Given the description of an element on the screen output the (x, y) to click on. 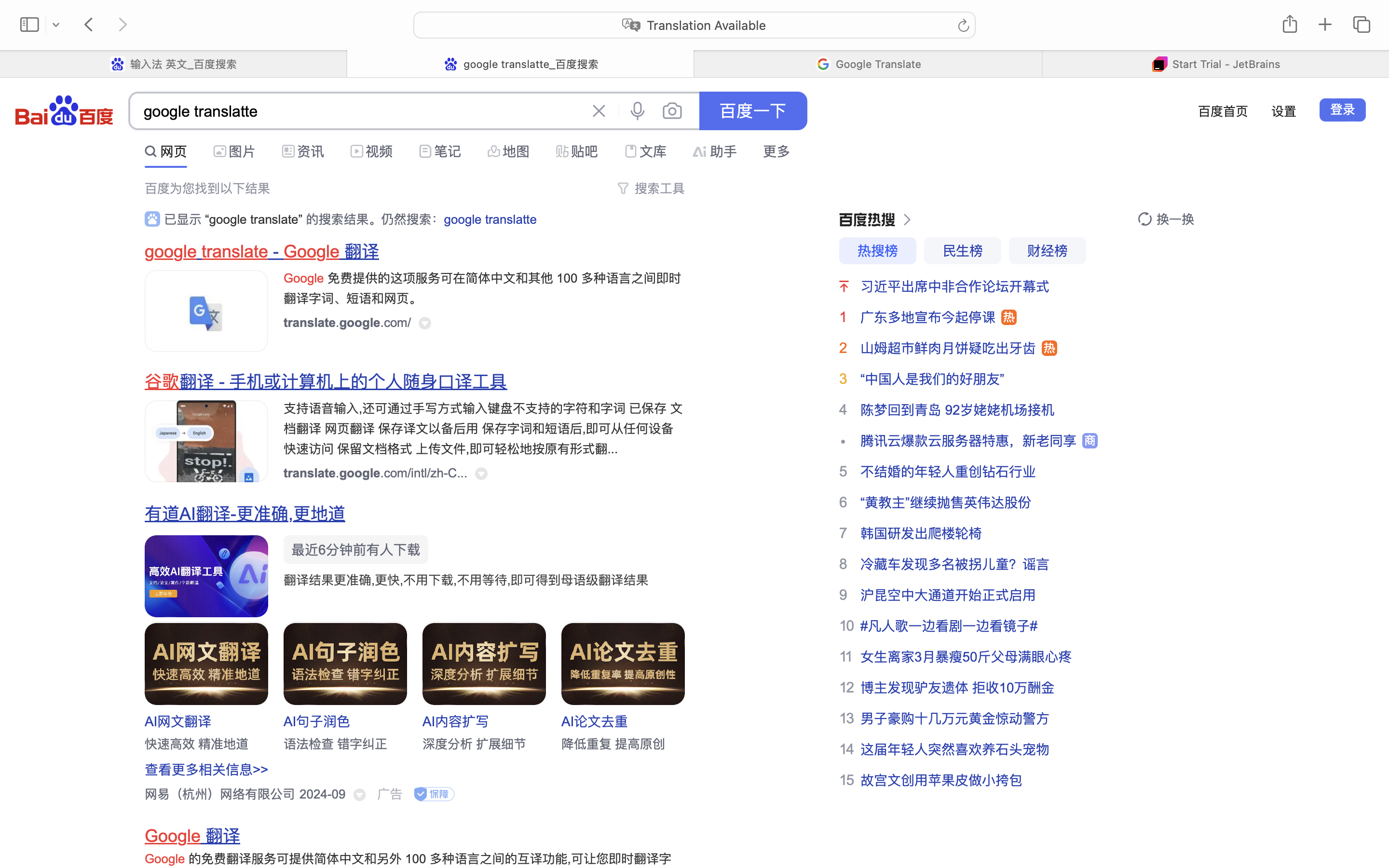
AI内容扩写 Element type: AXStaticText (456, 721)
7 Element type: AXStaticText (842, 532)
翻译 - 手机或计算机上的个人随身口译工具 Element type: AXStaticText (343, 381)
习近平出席中非合作论坛开幕式 Element type: AXStaticText (954, 286)
- Element type: AXStaticText (276, 251)
